Given the description of an element on the screen output the (x, y) to click on. 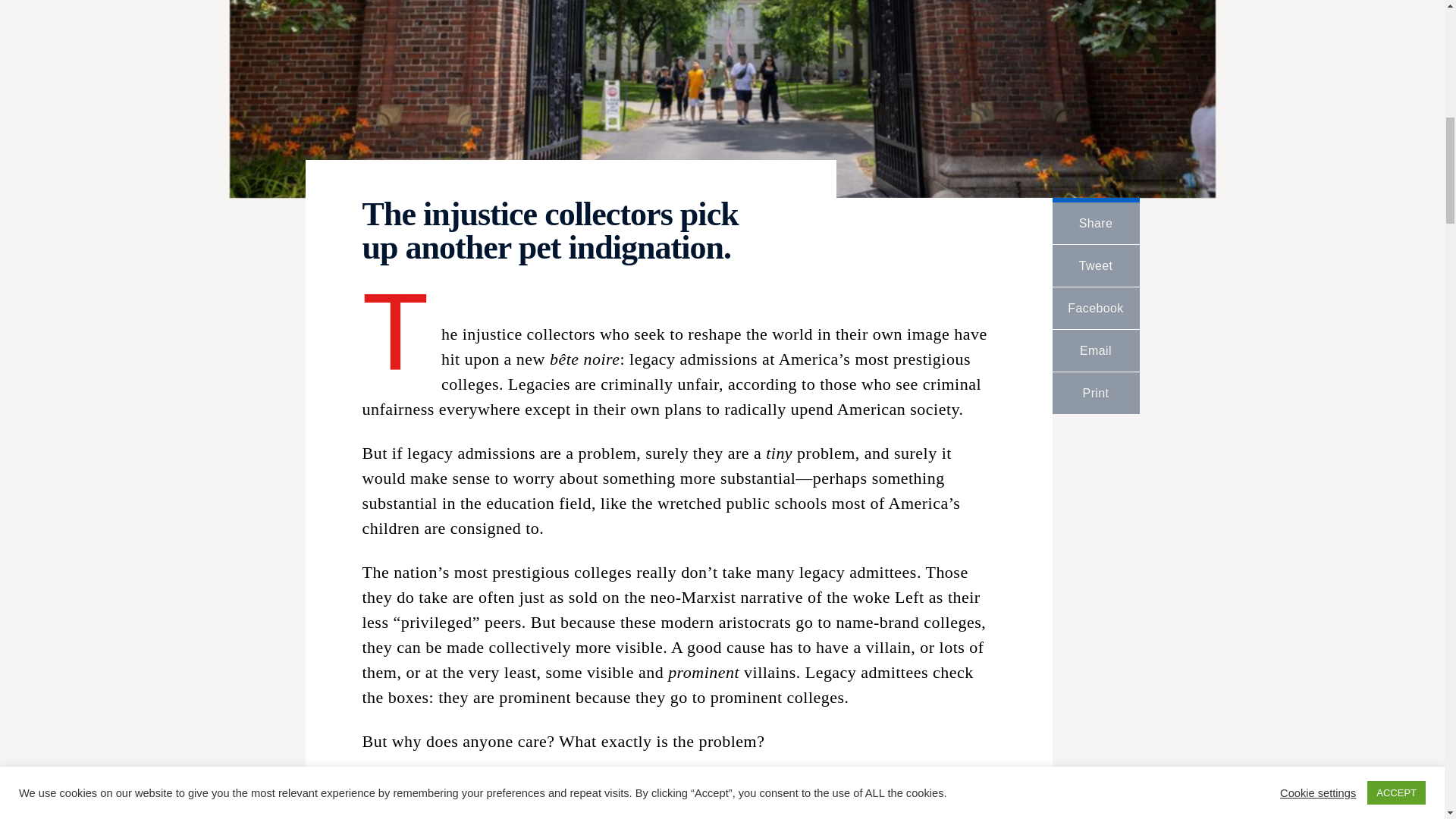
Facebook (1096, 307)
Click to share this post on Twitter (1096, 265)
Print (1096, 392)
One writer (400, 784)
Share by Email (1096, 350)
Print Article (1096, 392)
Tweet (1096, 265)
Email (1096, 350)
